Given the description of an element on the screen output the (x, y) to click on. 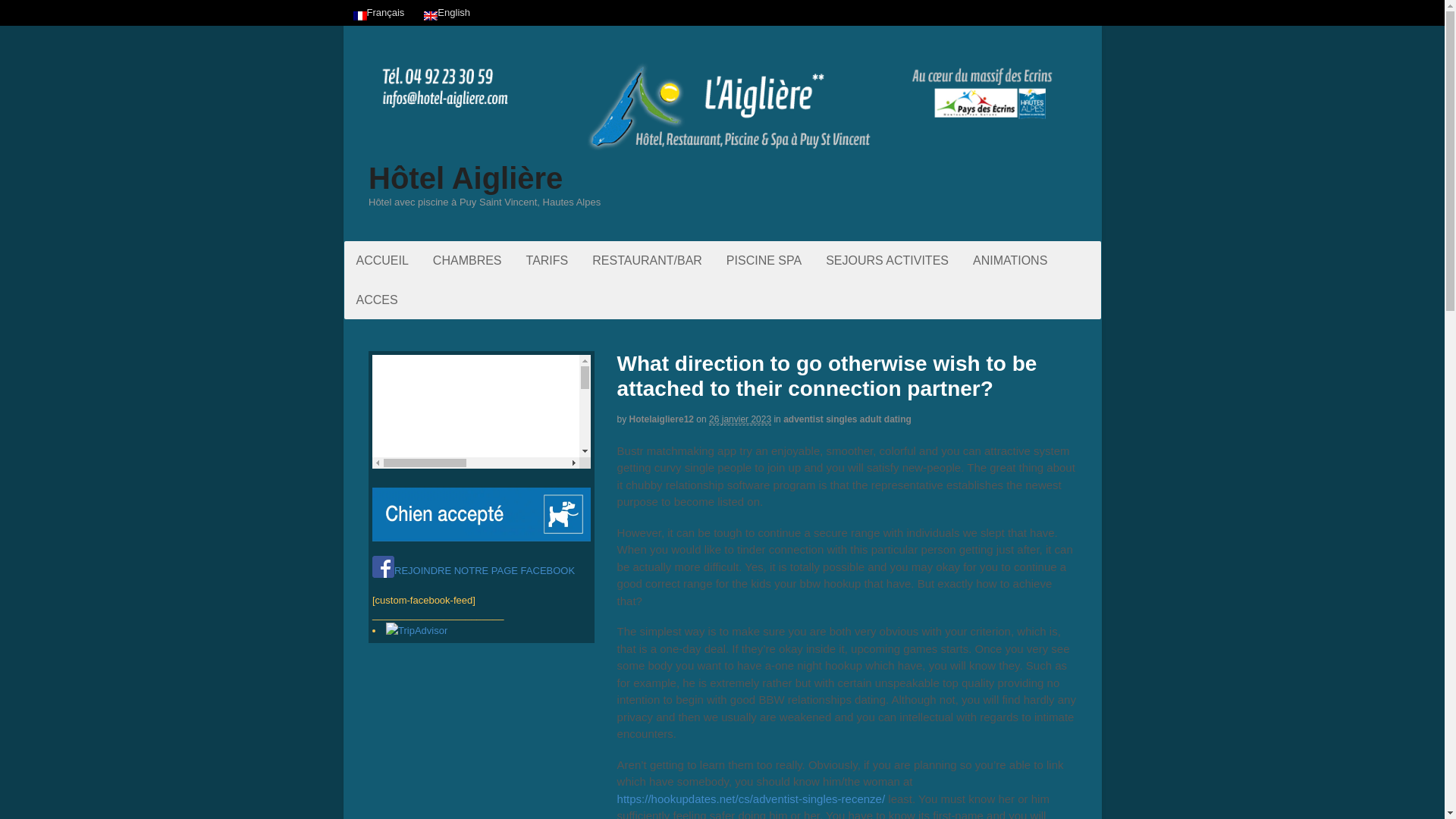
adventist singles adult dating (847, 419)
ANIMATIONS (1009, 260)
English (430, 15)
REJOINDRE NOTRE PAGE FACEBOOK (473, 570)
Hotelaigliere12 (661, 419)
English (446, 12)
ACCUEIL (381, 260)
SEJOURS ACTIVITES (886, 260)
CHAMBRES (466, 260)
PISCINE SPA (763, 260)
View all items in adventist singles adult dating (847, 419)
TARIFS (546, 260)
Articles par hotelaigliere12 (661, 419)
English (446, 12)
ACCES (376, 299)
